Given the description of an element on the screen output the (x, y) to click on. 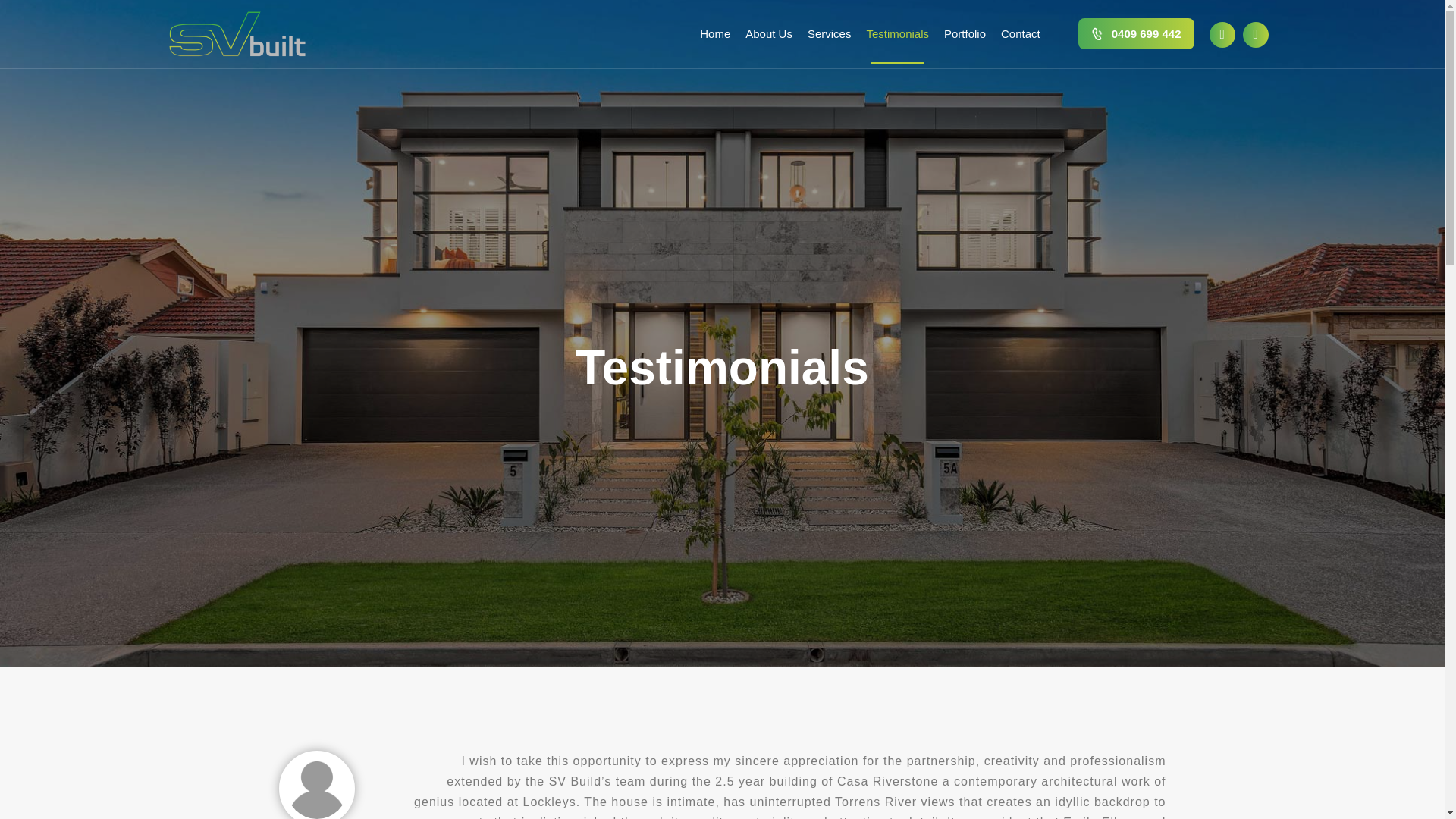
Portfolio (964, 34)
Our Services (829, 34)
Services (829, 34)
Phone-Active-3 0409 699 442 (1135, 33)
Svbuilt (237, 33)
Contact (1020, 34)
About SV Built (768, 34)
About Us (768, 34)
Phone-Active-3 (1099, 33)
Testimonials (897, 34)
Contact SV Built (1020, 34)
Testimonials (897, 34)
Project Gallery (964, 34)
